Given the description of an element on the screen output the (x, y) to click on. 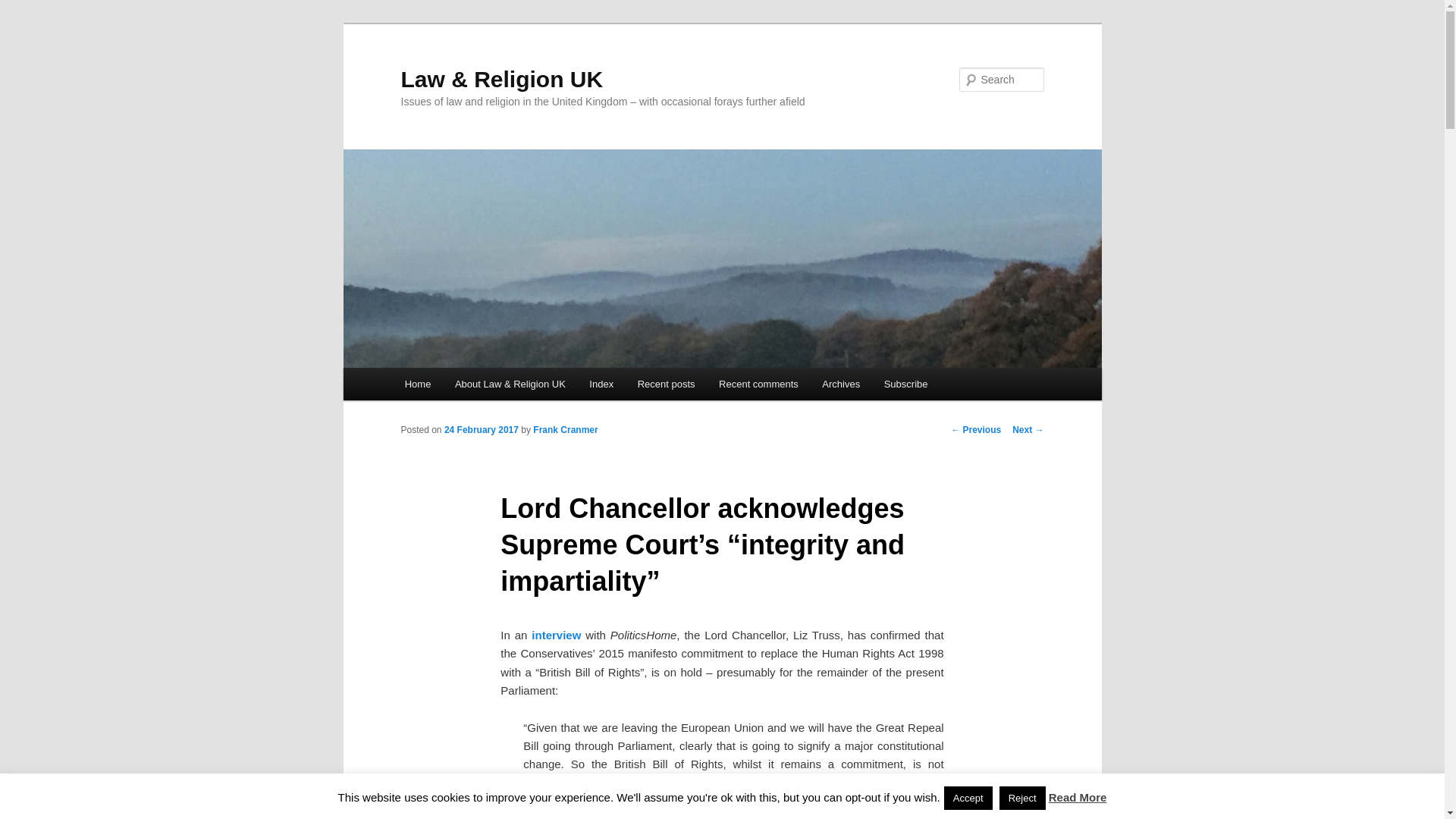
Index (602, 383)
Recent posts (666, 383)
24 February 2017 (481, 429)
Subscribe (905, 383)
Search (24, 8)
Recent comments (757, 383)
Home (417, 383)
Archives (841, 383)
Frank Cranmer (564, 429)
interview (555, 634)
